Given the description of an element on the screen output the (x, y) to click on. 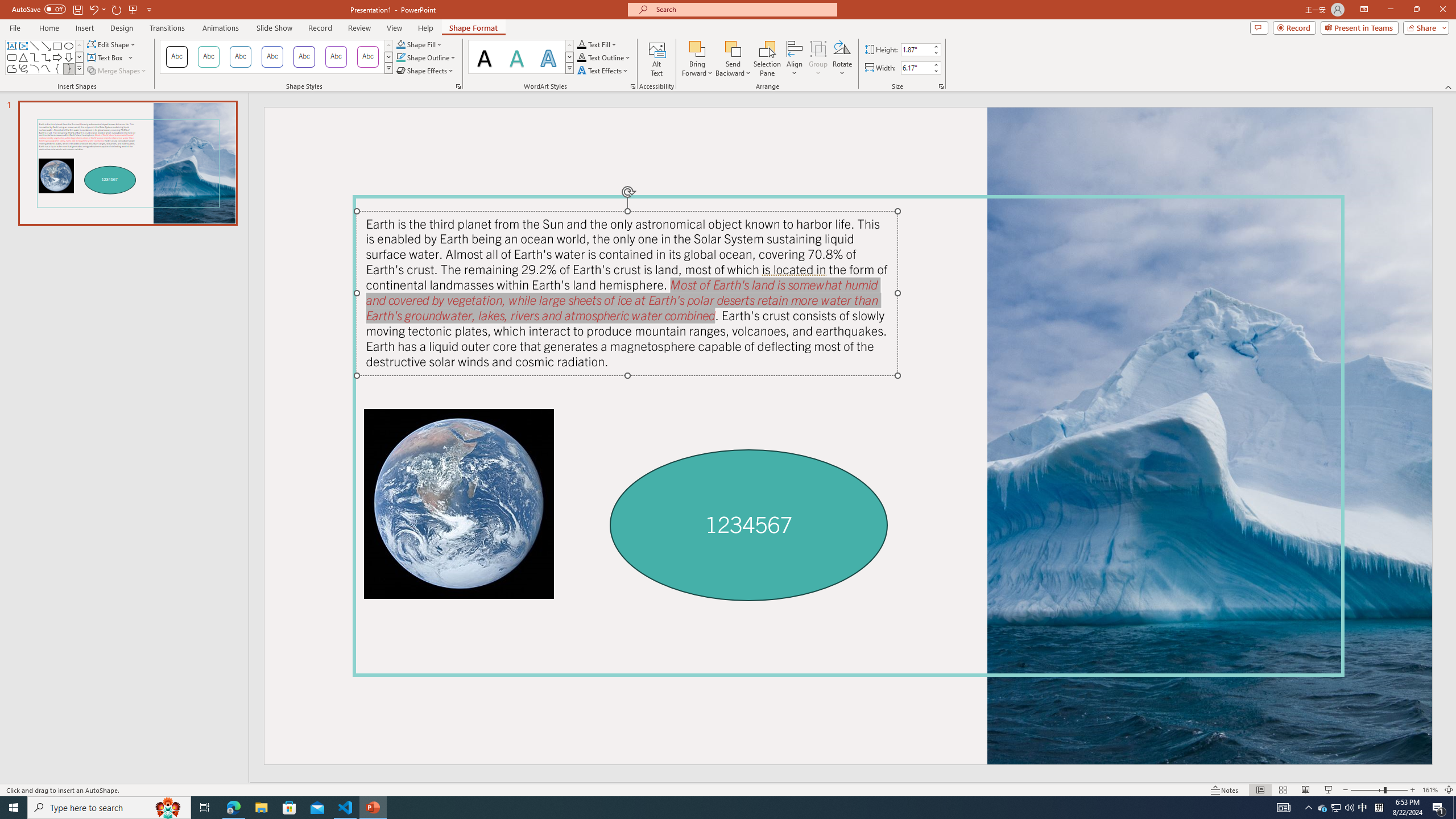
Ribbon Display Options (1364, 9)
Customize Quick Access Toolbar (149, 9)
Line Arrow (46, 45)
Curve (46, 68)
Fill: Aqua, Accent color 2; Outline: Aqua, Accent color 2 (548, 56)
Slide Sorter (1282, 790)
Isosceles Triangle (23, 57)
Colored Outline - Teal, Accent 1 (208, 56)
Bring Forward (697, 58)
Text Effects (603, 69)
Right Brace (68, 68)
Colored Outline - Black, Dark 1 (176, 56)
Minimize (1390, 9)
Rectangle: Rounded Corners (11, 57)
Arc (34, 68)
